Given the description of an element on the screen output the (x, y) to click on. 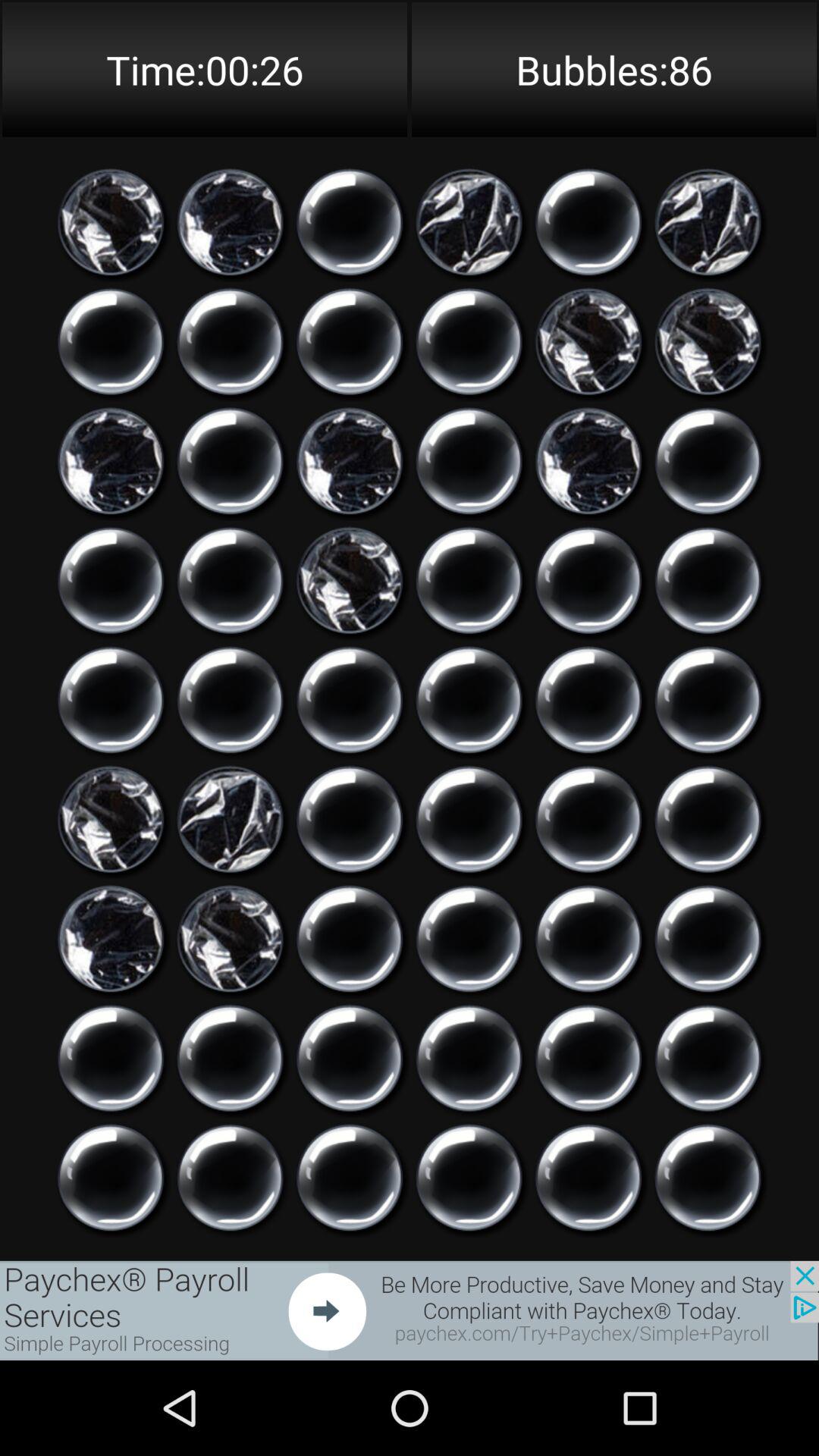
pop bubble (468, 1177)
